Given the description of an element on the screen output the (x, y) to click on. 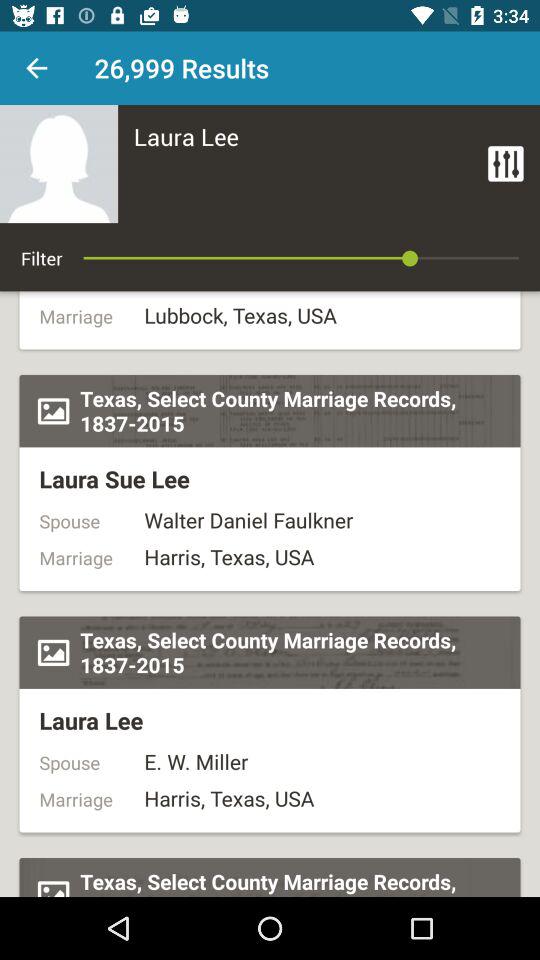
go back (36, 68)
